Given the description of an element on the screen output the (x, y) to click on. 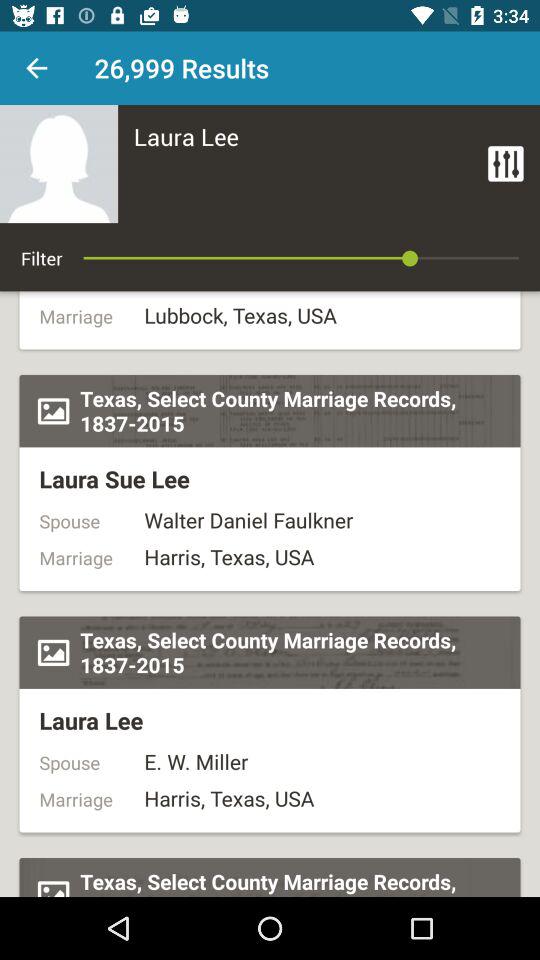
go back (36, 68)
